Given the description of an element on the screen output the (x, y) to click on. 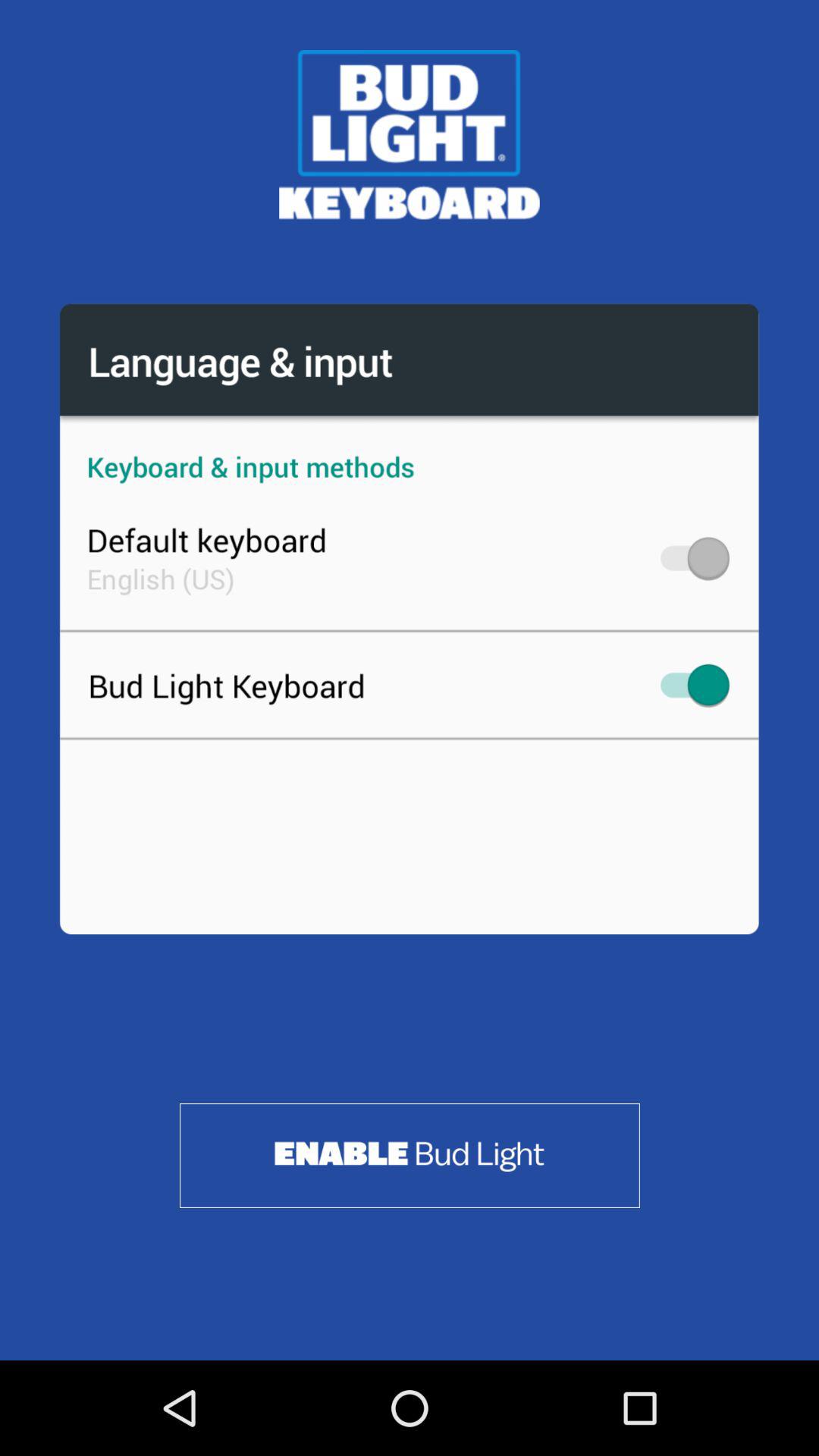
enable (409, 1155)
